Given the description of an element on the screen output the (x, y) to click on. 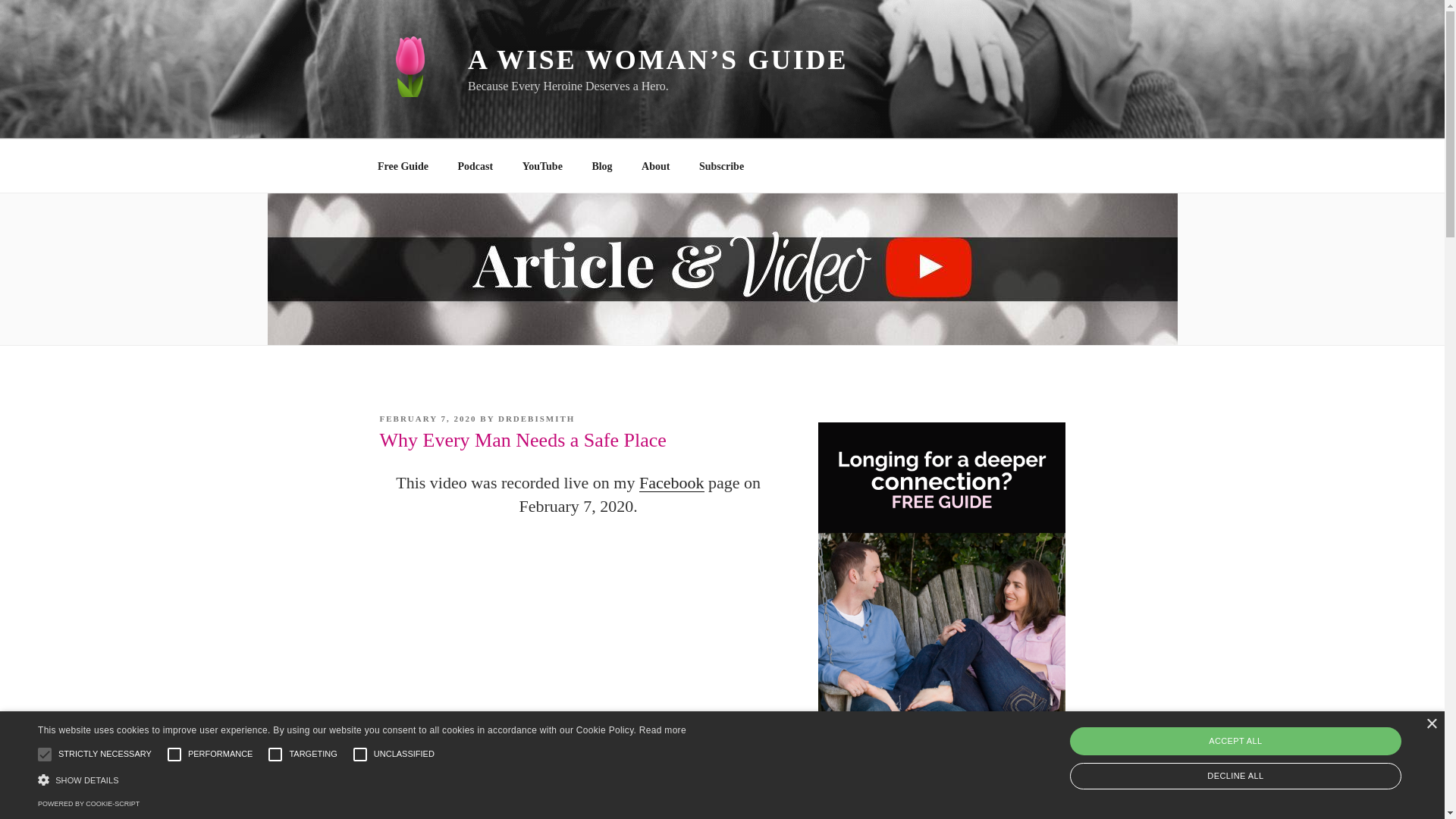
YouTube (541, 165)
Subscribe (721, 165)
DRDEBISMITH (536, 418)
Quick Start Guide to Understanding Men (676, 787)
FEBRUARY 7, 2020 (427, 418)
Free Guide (402, 165)
Facebook (671, 482)
Blog (602, 165)
A Self-Fulfilling Prophecy (626, 805)
A Different Man (735, 805)
Podcast (475, 165)
About (655, 165)
